Given the description of an element on the screen output the (x, y) to click on. 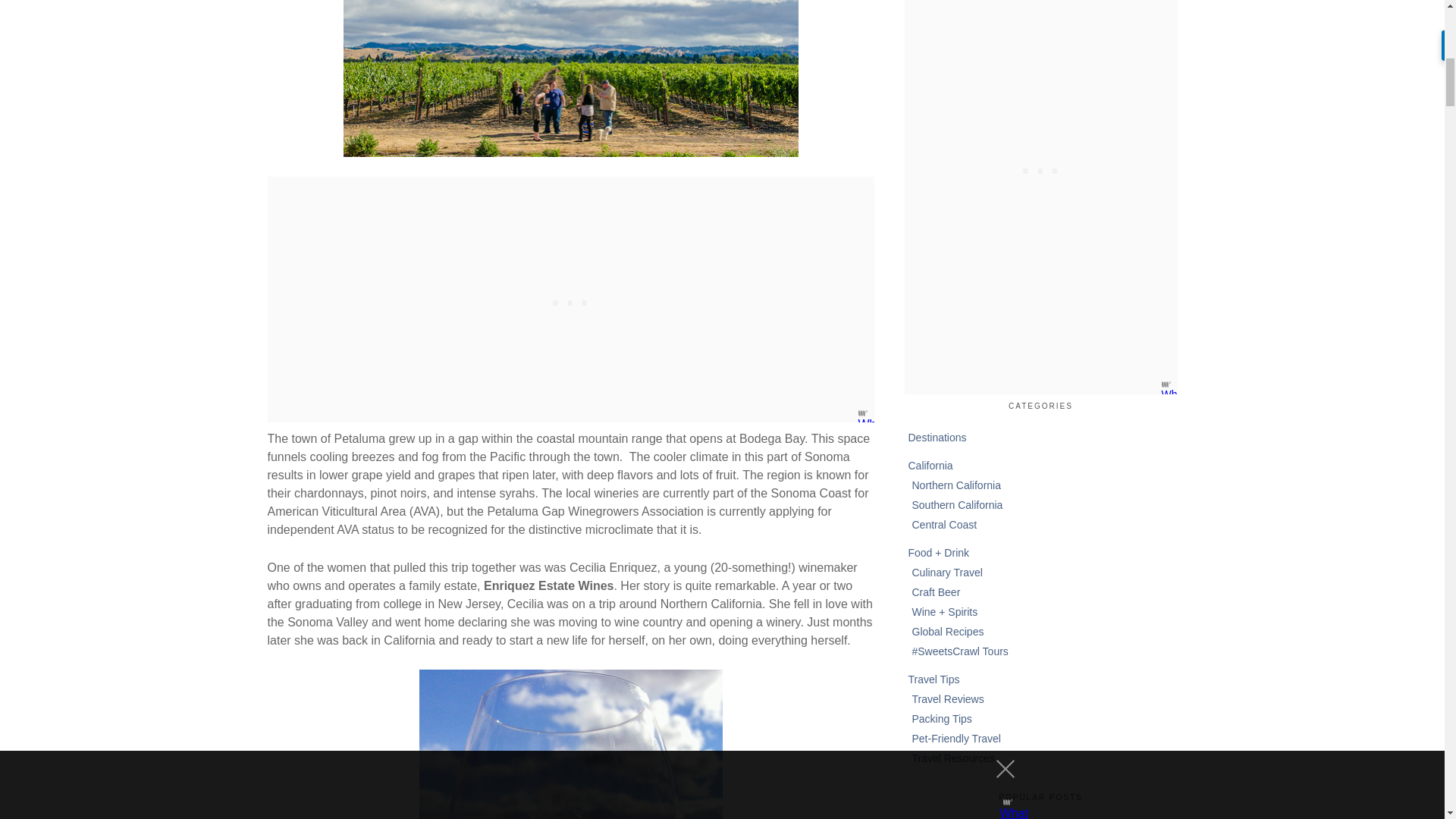
Enriquez Estate Wines, Petaluma, CA (570, 744)
3rd party ad content (569, 299)
Enriquez Estate Wines (569, 78)
